Given the description of an element on the screen output the (x, y) to click on. 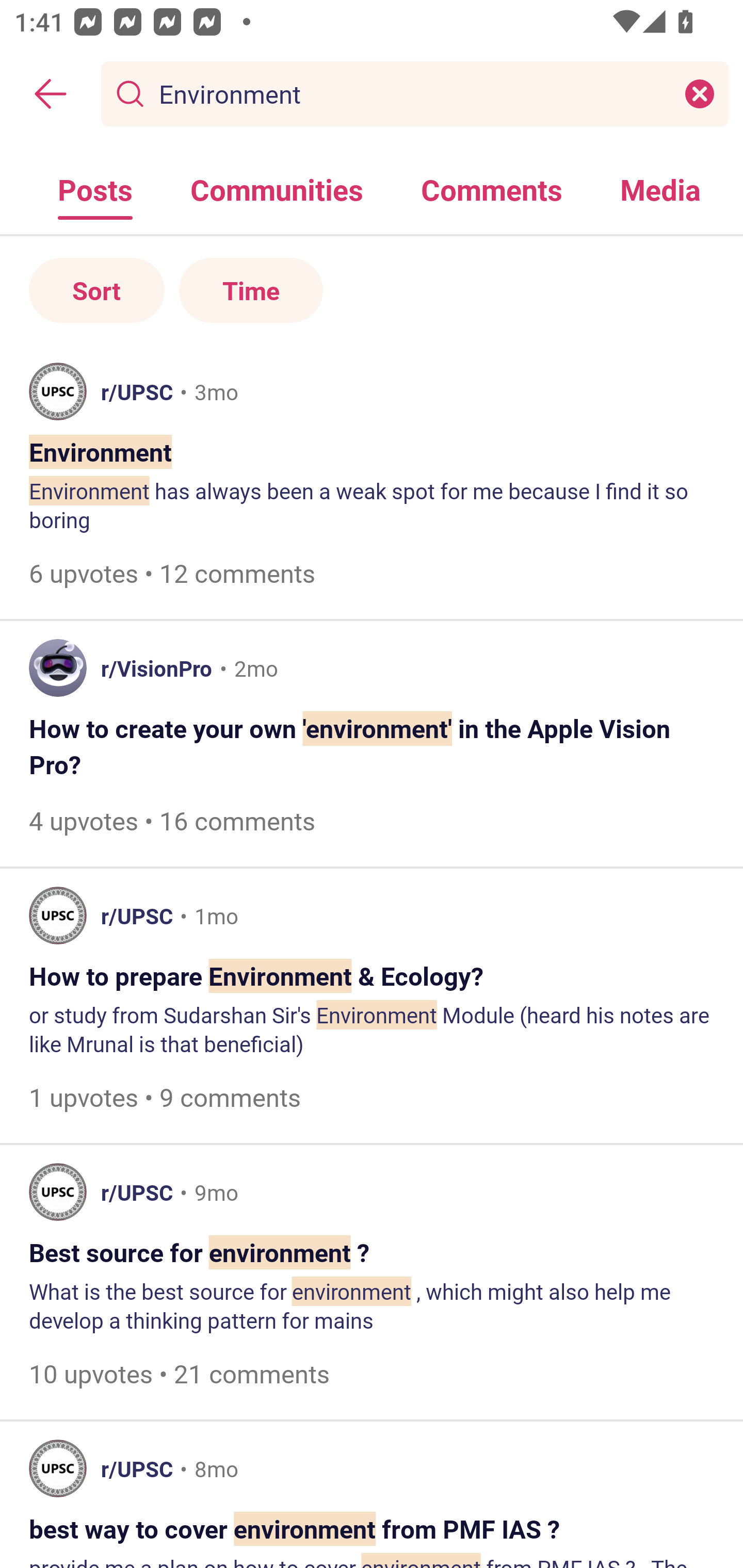
Back (50, 93)
Environment (410, 93)
Clear search (699, 93)
Communities (276, 188)
Comments (491, 188)
Media (660, 188)
Sort Sort by Most relevant (96, 290)
Time Filter Time by All time (251, 290)
